Given the description of an element on the screen output the (x, y) to click on. 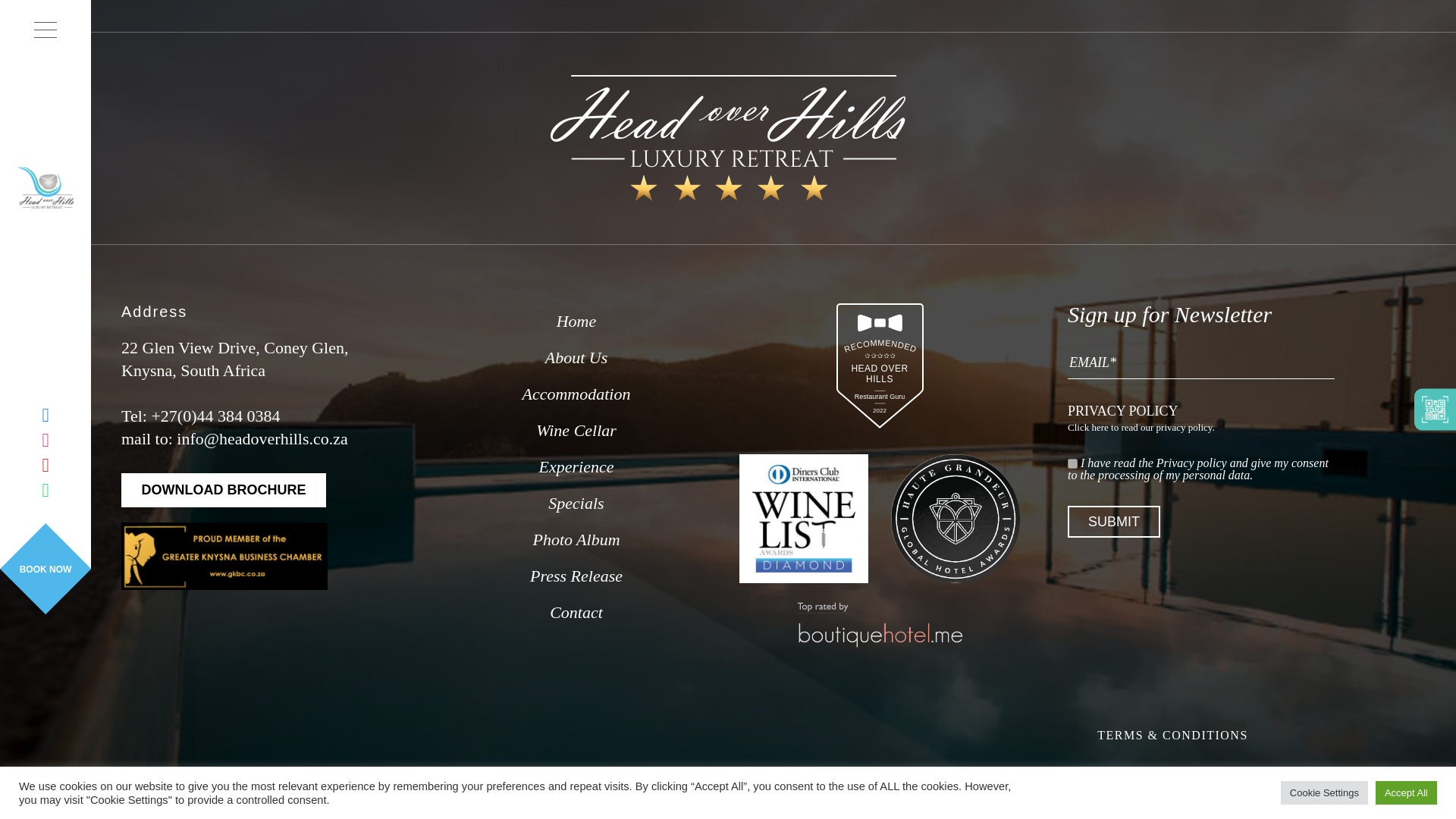
Home (576, 321)
Head Over Hills (727, 137)
RECOMMENDED (878, 436)
SUBMIT (1113, 521)
Head Over Hills on Youtube (223, 489)
DOWNLOAD BROCHURE (223, 489)
